Given the description of an element on the screen output the (x, y) to click on. 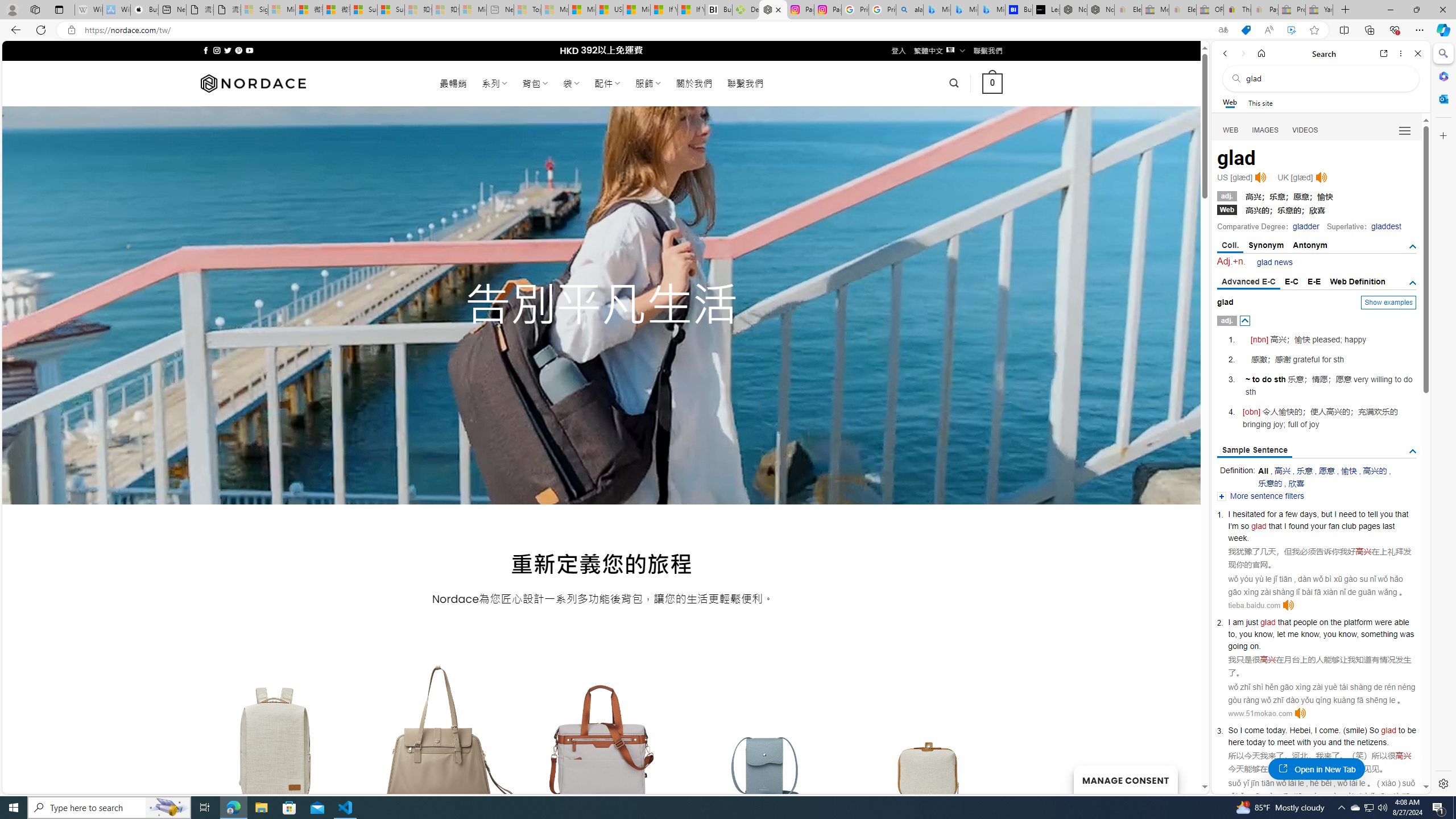
let (1280, 633)
Web Definition (1357, 281)
you (1319, 741)
 0  (992, 83)
today (1256, 741)
know (1347, 633)
AutomationID: tgdef_sen (1412, 451)
